Given the description of an element on the screen output the (x, y) to click on. 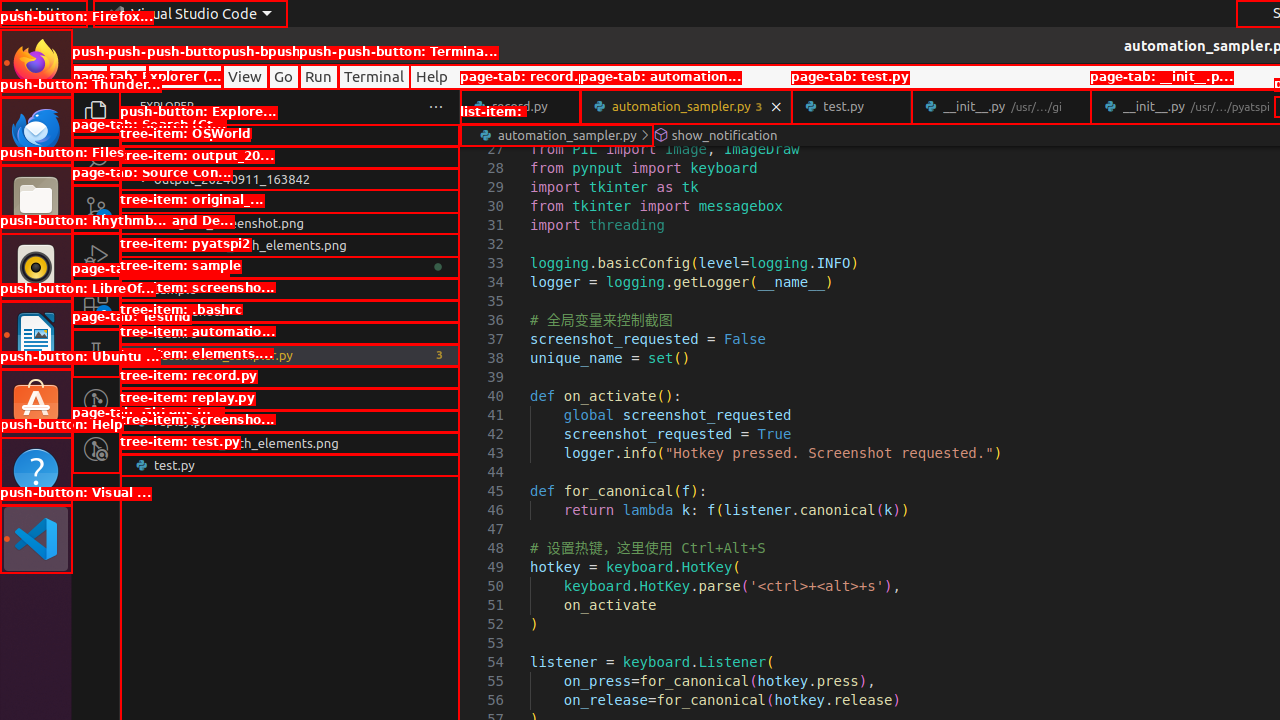
original_screenshot.png Element type: tree-item (289, 223)
screenshot_with_elements.png Element type: tree-item (289, 443)
Source Control (Ctrl+Shift+G G) - 1 pending changes Element type: page-tab (96, 208)
pyatspi2 Element type: tree-item (289, 267)
